Given the description of an element on the screen output the (x, y) to click on. 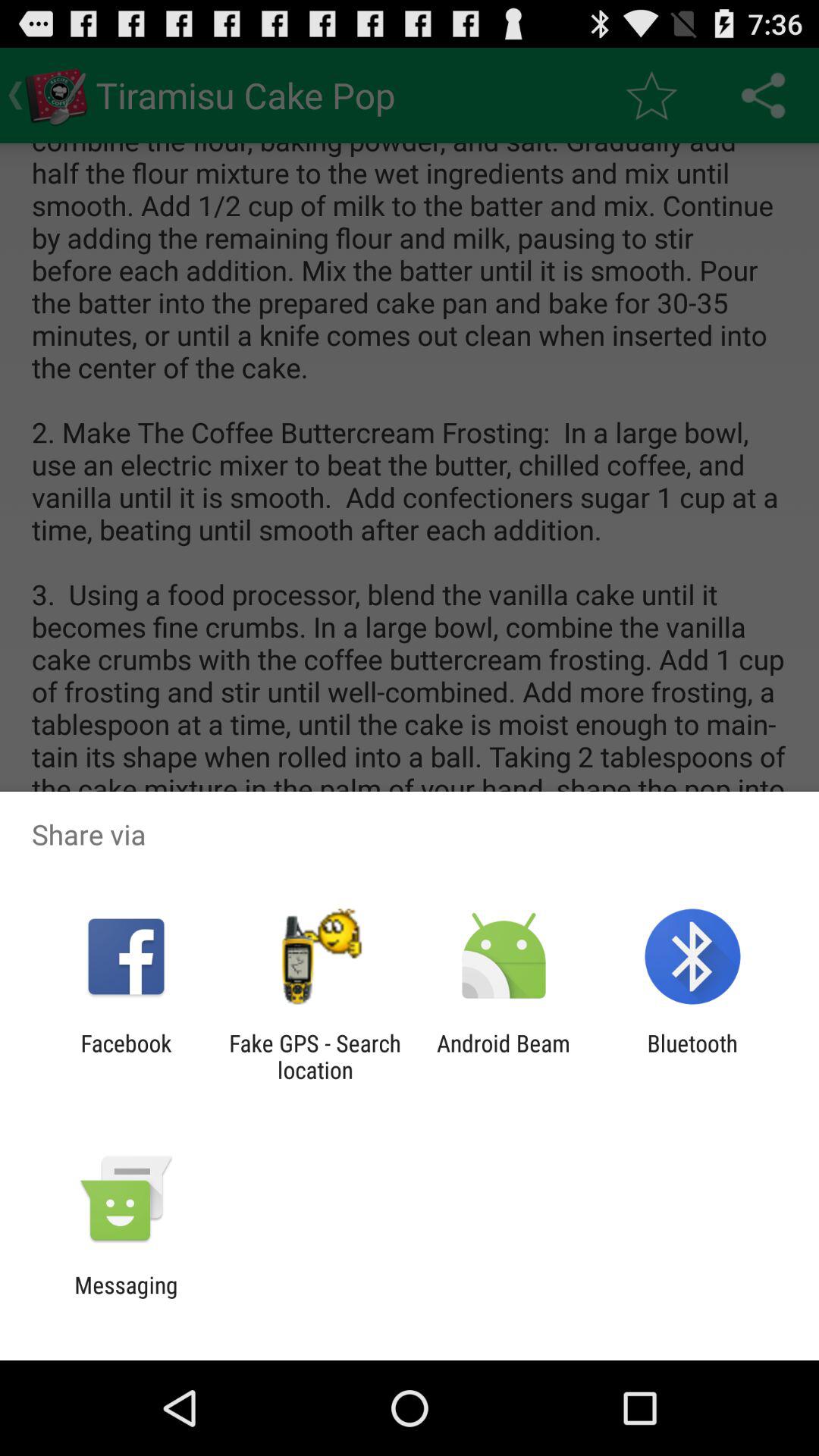
turn on messaging item (126, 1298)
